Given the description of an element on the screen output the (x, y) to click on. 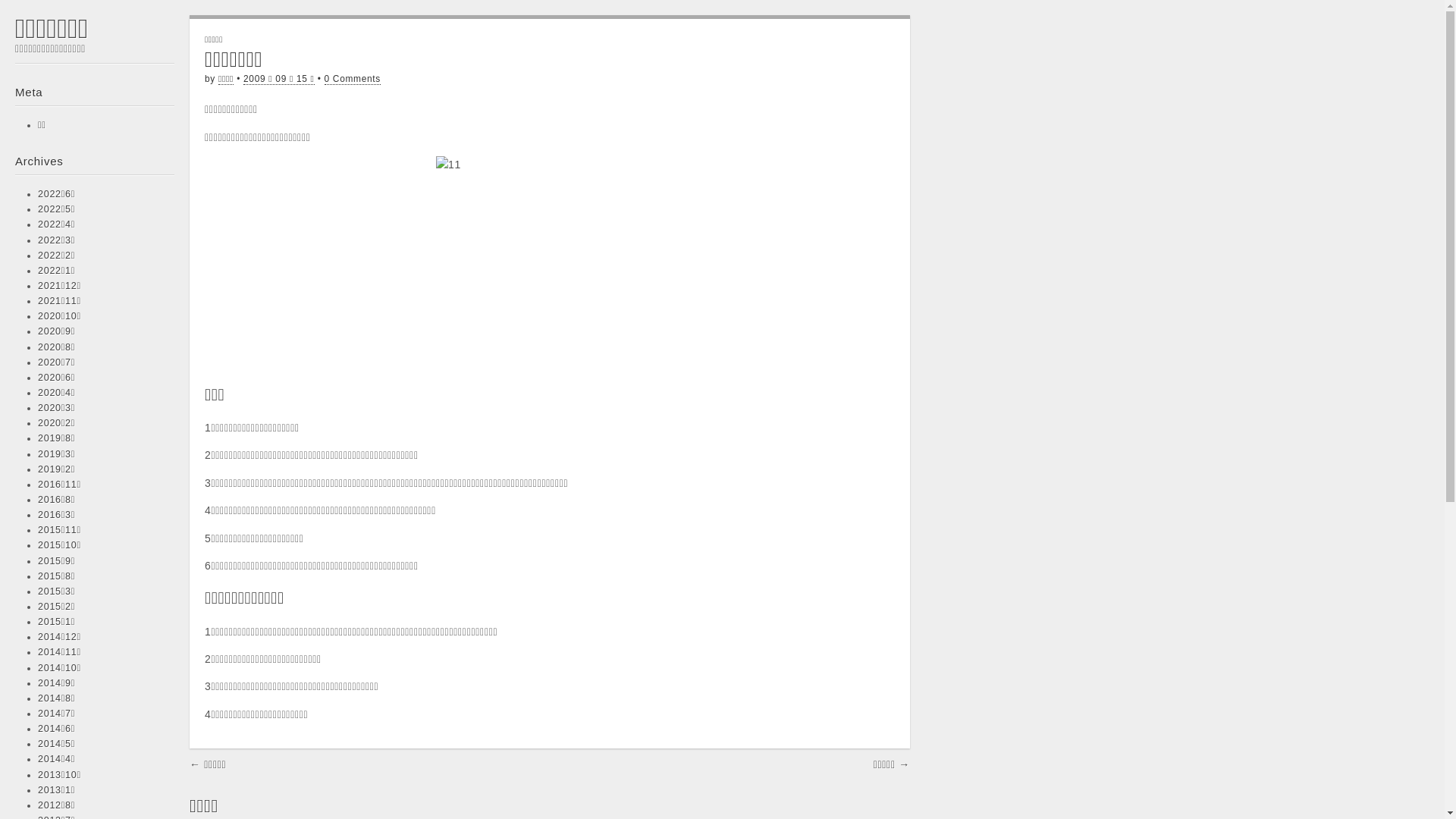
Skip to content Element type: text (14, 70)
11 Element type: hover (549, 263)
0 Comments Element type: text (352, 78)
